Given the description of an element on the screen output the (x, y) to click on. 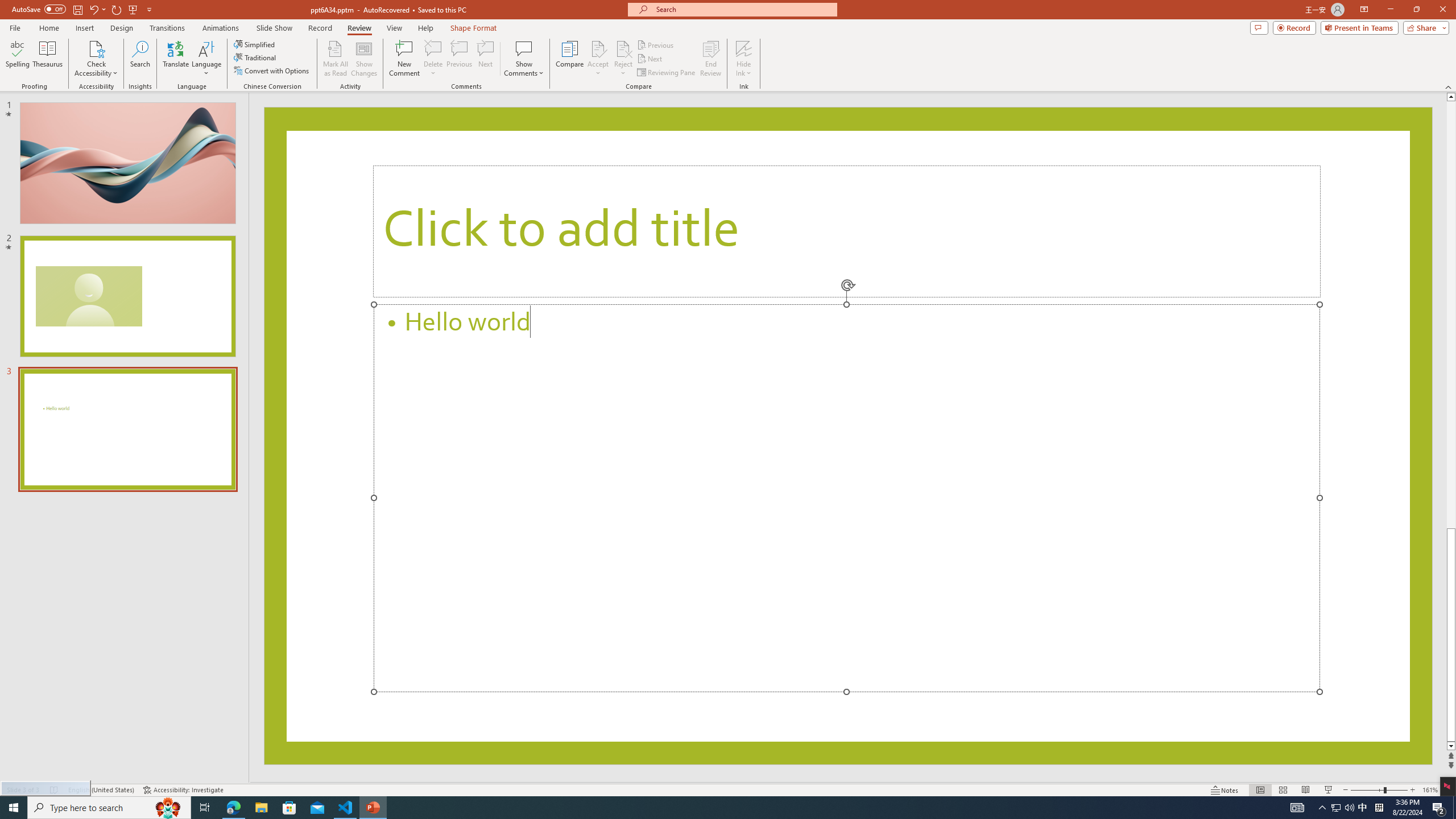
System (6, 6)
Zoom (1379, 790)
Compare (569, 58)
Share (1423, 27)
Zoom Out (1367, 790)
Quick Access Toolbar (82, 9)
File Tab (15, 27)
Accessibility Checker Accessibility: Investigate (183, 790)
Slide Show (273, 28)
View (395, 28)
Undo (96, 9)
Hide Ink (743, 58)
Convert with Options... (272, 69)
Previous (655, 44)
